Given the description of an element on the screen output the (x, y) to click on. 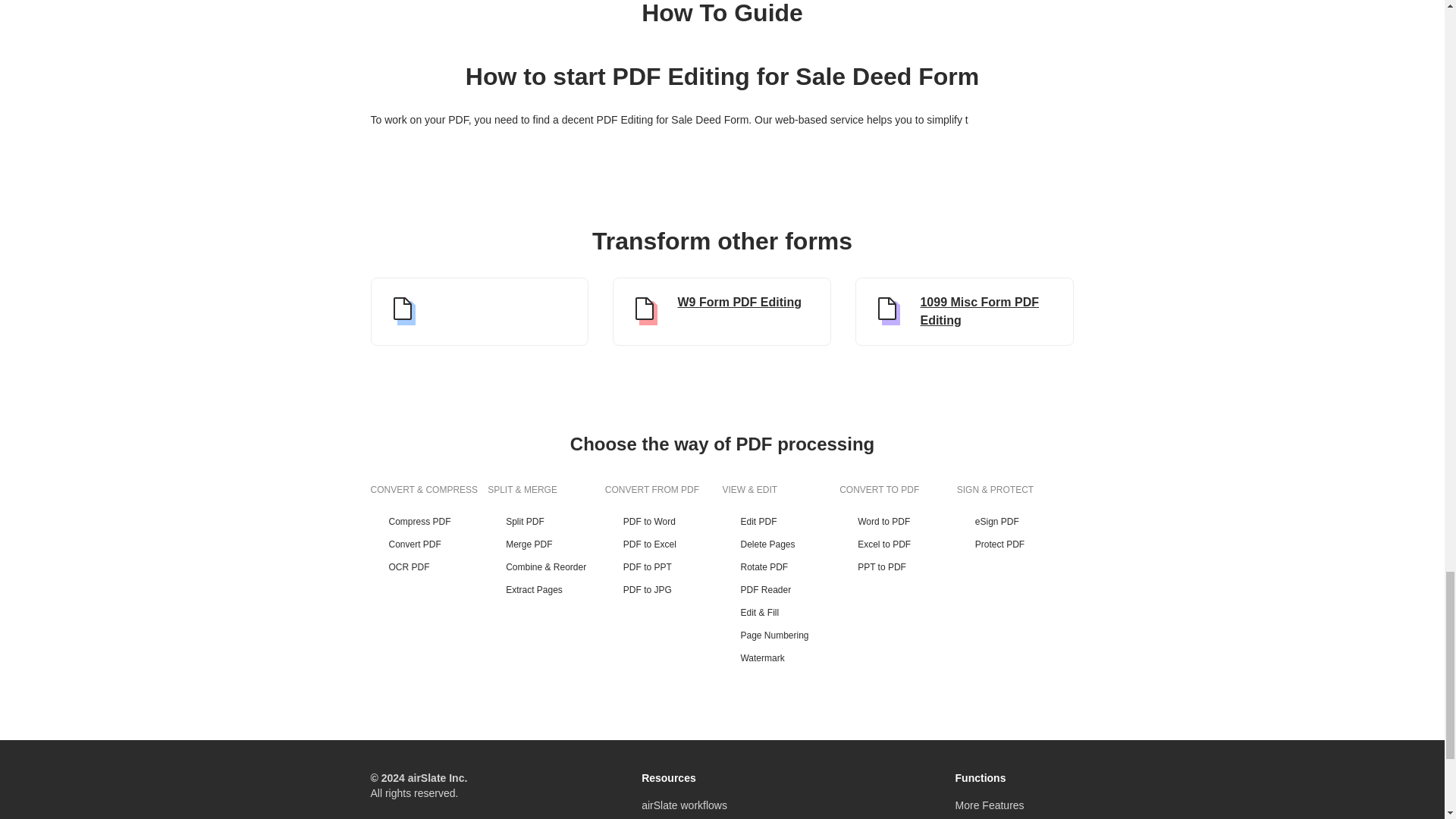
Excel to PDF (898, 544)
Edit PDF (781, 521)
Delete Pages (781, 544)
OCR PDF (428, 567)
PDF to JPG (663, 589)
Convert PDF (428, 544)
PPT to PDF (898, 567)
Word to PDF (898, 521)
eSign PDF (1015, 521)
Compress PDF (428, 521)
Split PDF (546, 521)
Watermark (781, 657)
PDF to PPT (663, 567)
PDF to Word (663, 521)
Rotate PDF (781, 567)
